Given the description of an element on the screen output the (x, y) to click on. 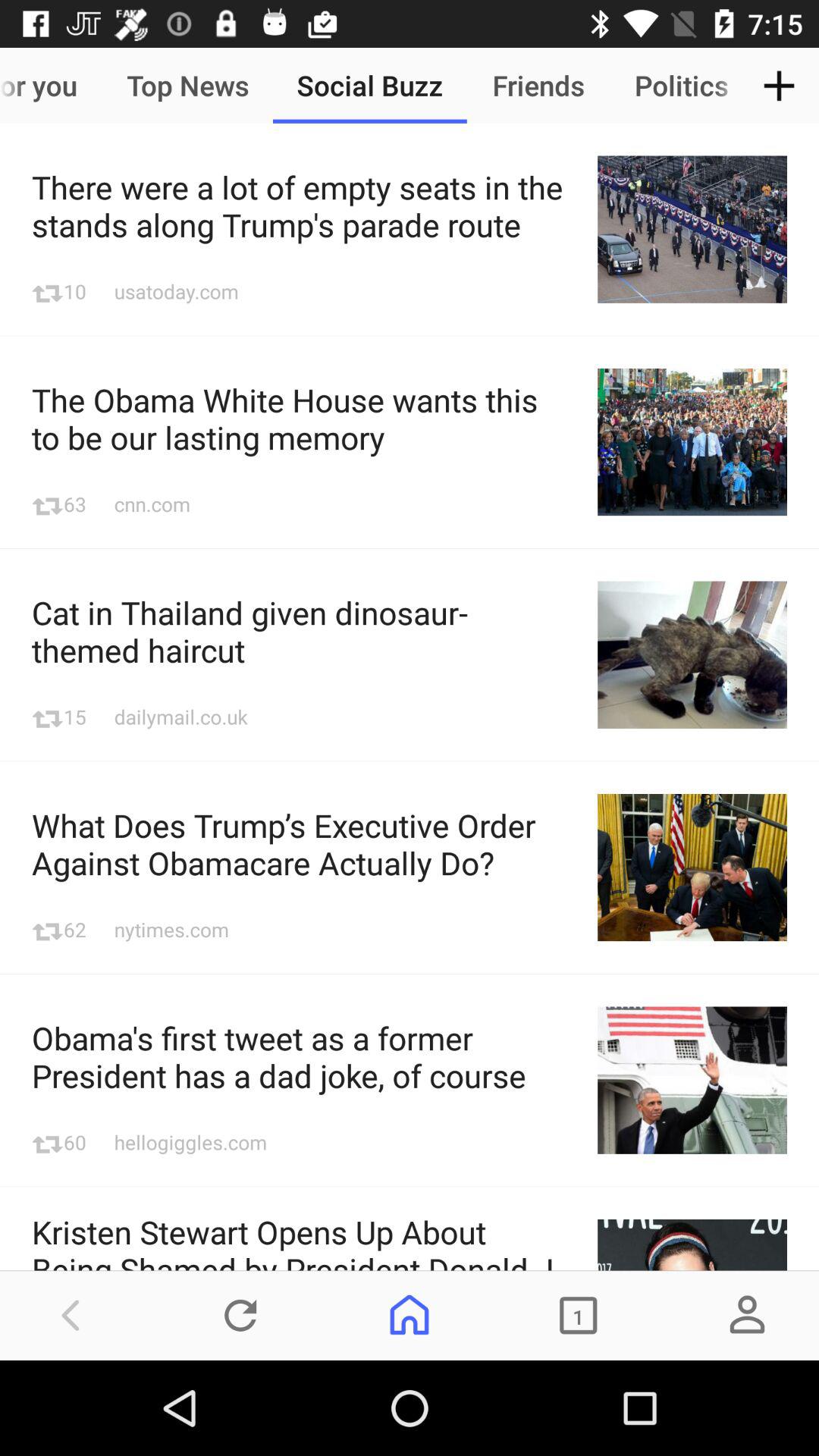
launch the item next to politics icon (779, 85)
